Given the description of an element on the screen output the (x, y) to click on. 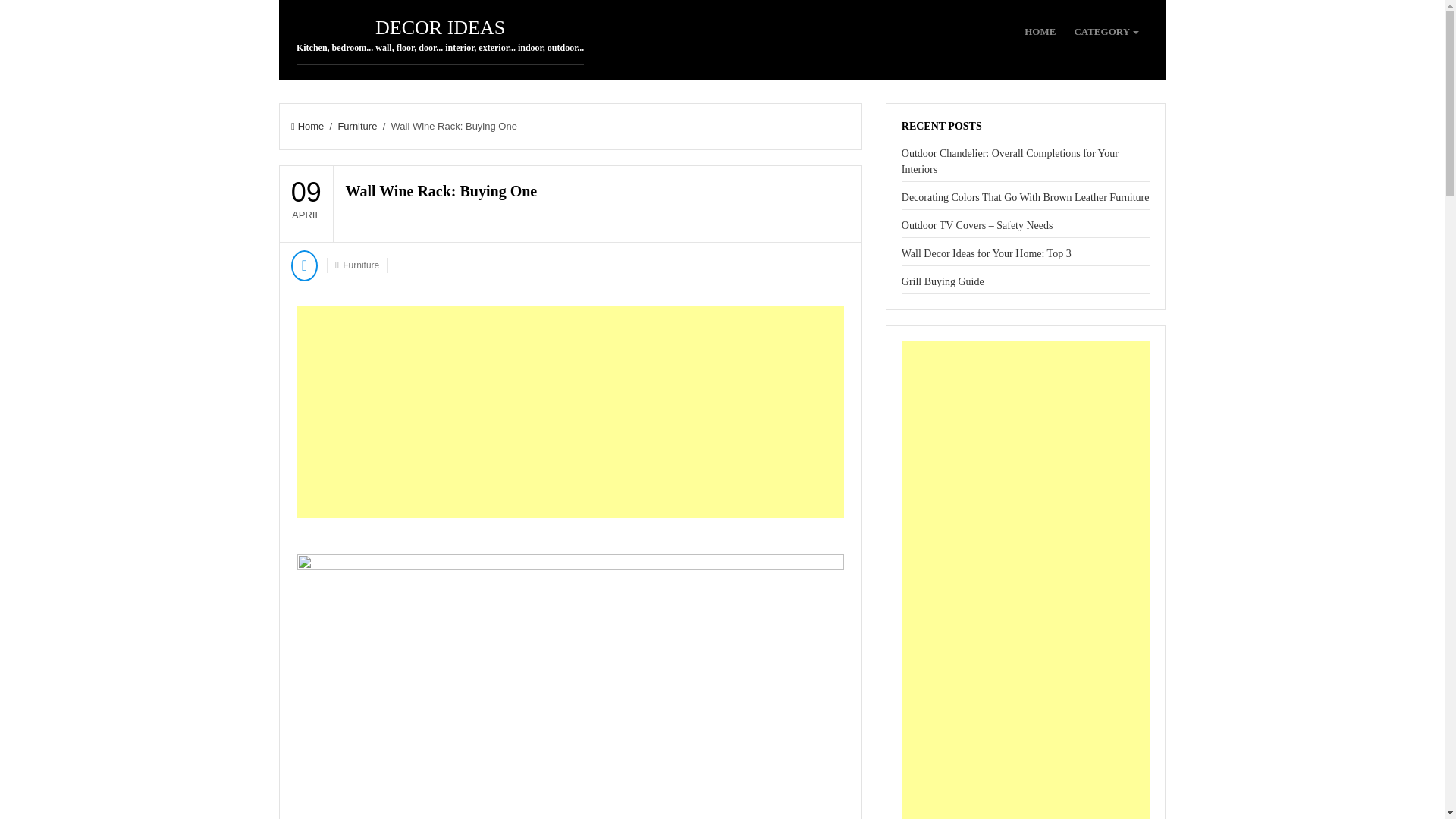
Wall Decor Ideas for Your Home: Top 3 (986, 253)
Home (307, 125)
Grill Buying Guide (942, 281)
DECOR IDEAS (440, 27)
HOME (1040, 31)
Furniture (357, 125)
Outdoor Chandelier: Overall Completions for Your Interiors (1009, 161)
Furniture (360, 265)
CATEGORY (1106, 31)
Decorating Colors That Go With Brown Leather Furniture (1025, 197)
